Given the description of an element on the screen output the (x, y) to click on. 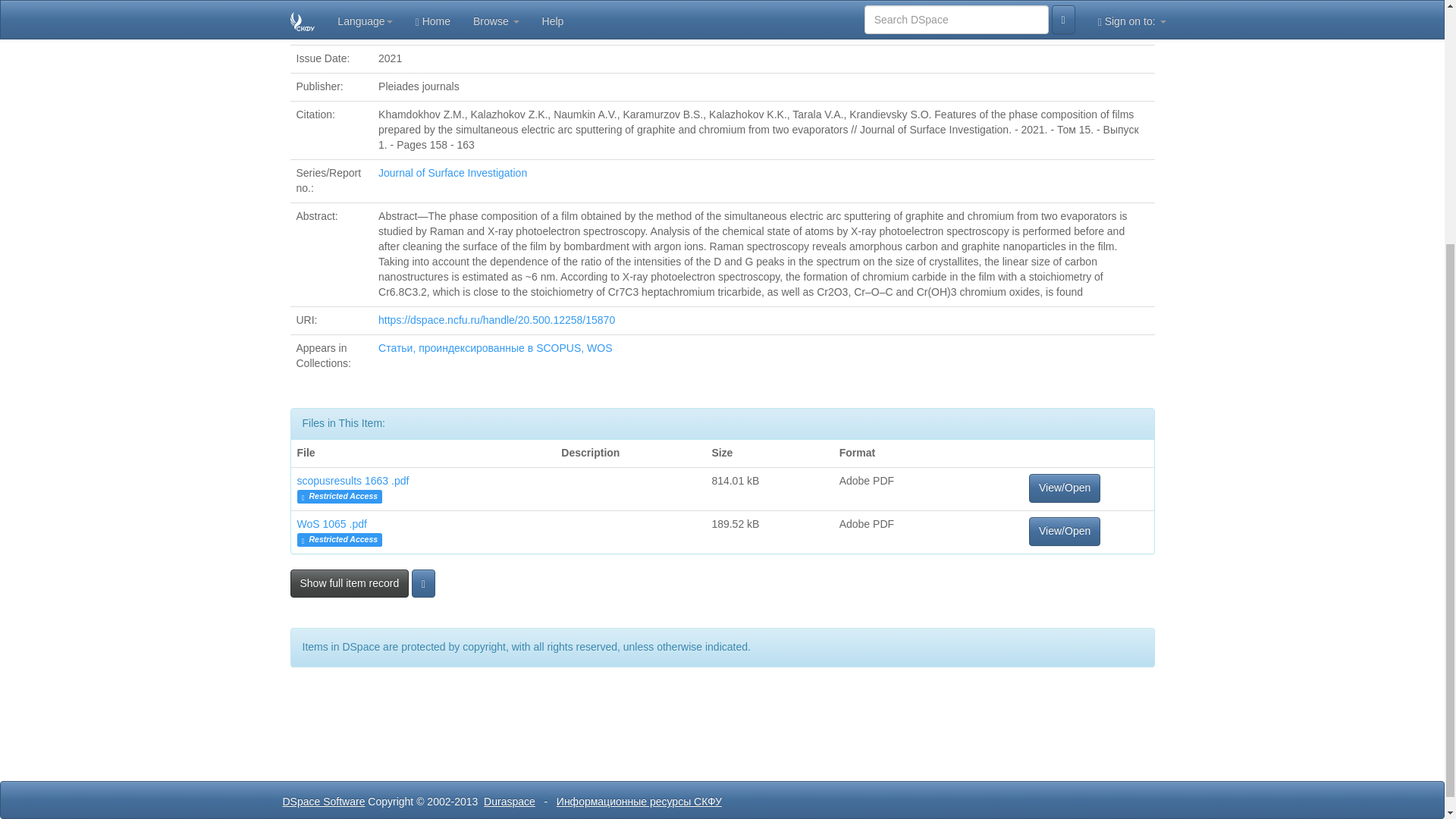
WoS 1065 .pdf (331, 523)
Show full item record (349, 582)
scopusresults 1663 .pdf (353, 480)
Journal of Surface Investigation (452, 173)
